Given the description of an element on the screen output the (x, y) to click on. 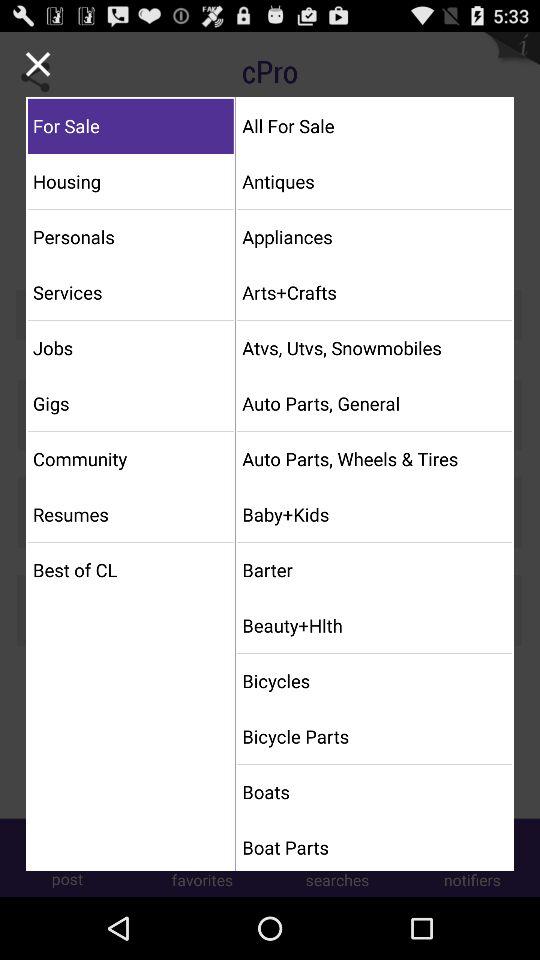
select the icon below antiques icon (374, 236)
